Given the description of an element on the screen output the (x, y) to click on. 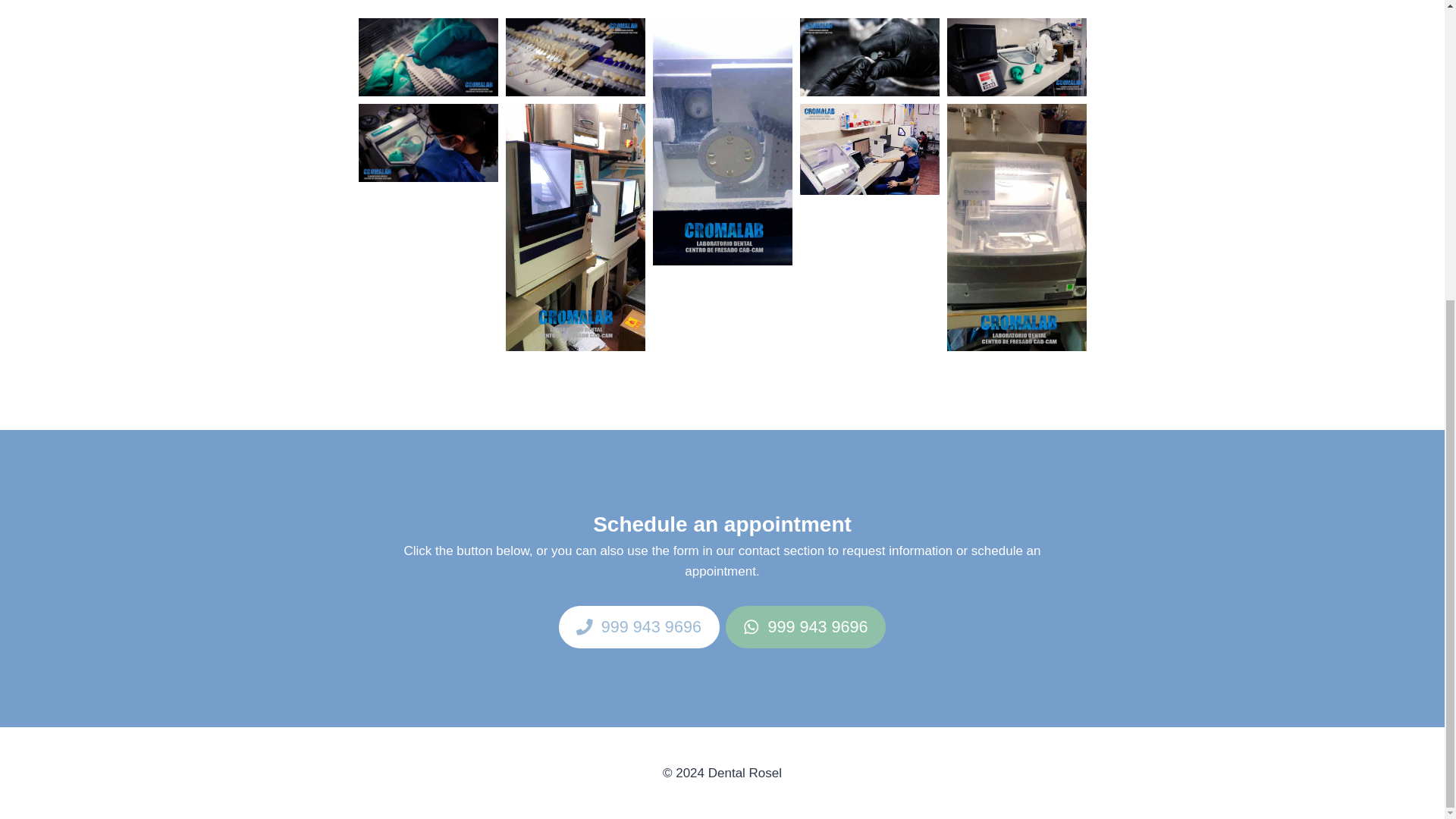
999 943 9696 (639, 627)
999 943 9696 (805, 627)
